Given the description of an element on the screen output the (x, y) to click on. 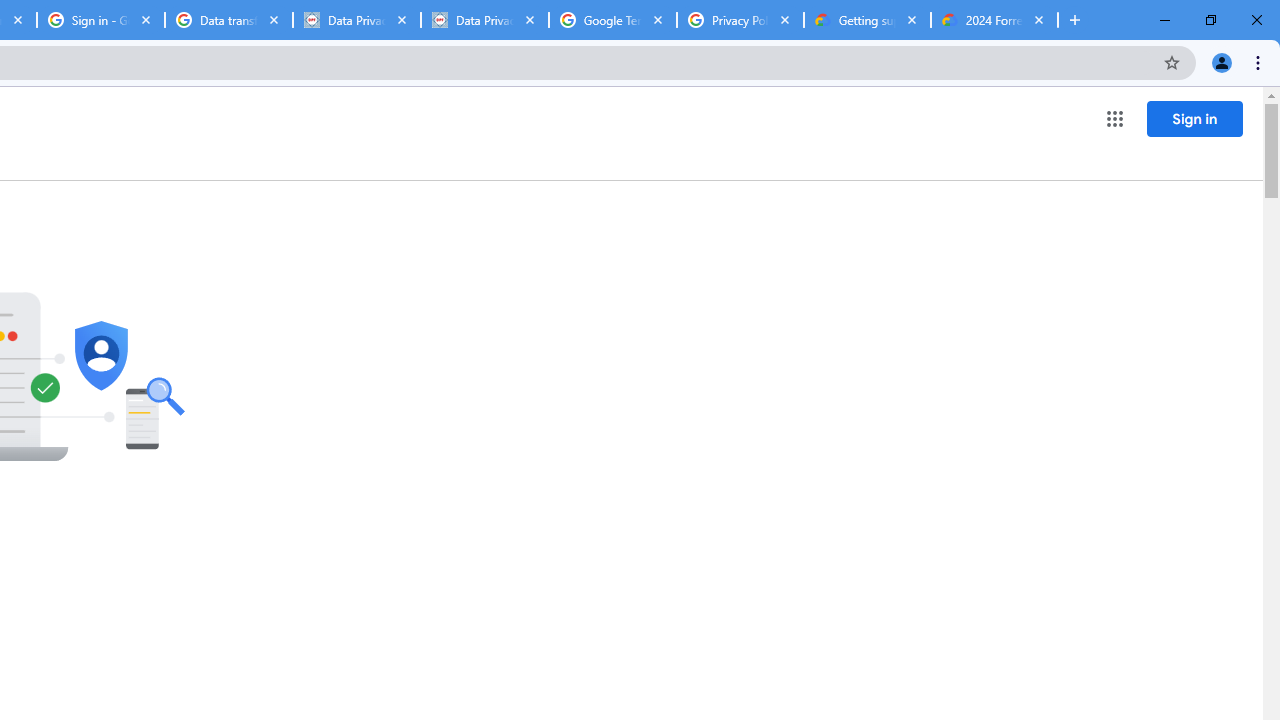
New Tab (1075, 20)
Close (1039, 19)
Data Privacy Framework (485, 20)
Data Privacy Framework (357, 20)
Chrome (1260, 62)
Restore (1210, 20)
You (1221, 62)
Google apps (1114, 118)
Sign in (1194, 118)
Sign in - Google Accounts (101, 20)
